Given the description of an element on the screen output the (x, y) to click on. 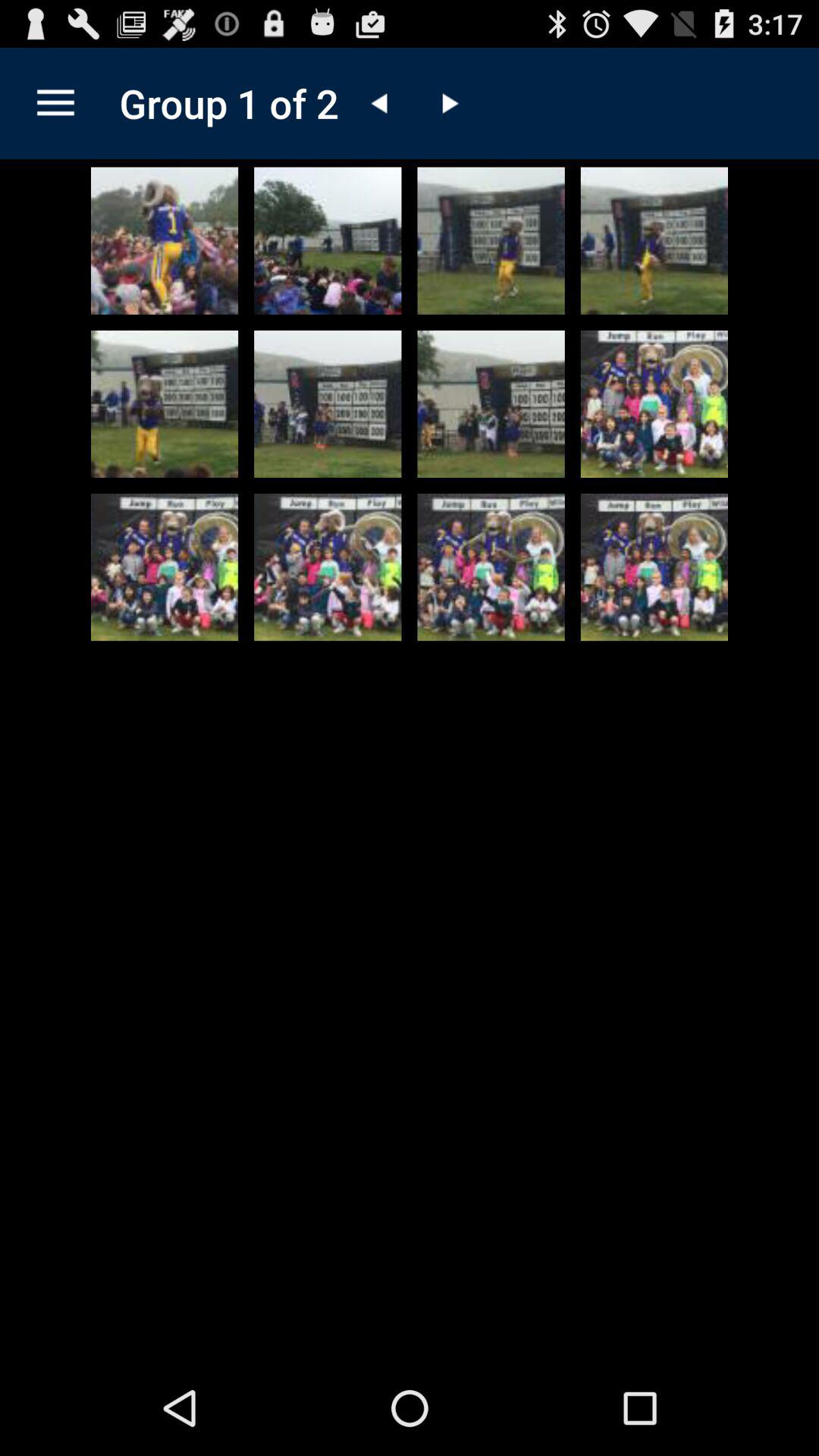
click picture (654, 403)
